Given the description of an element on the screen output the (x, y) to click on. 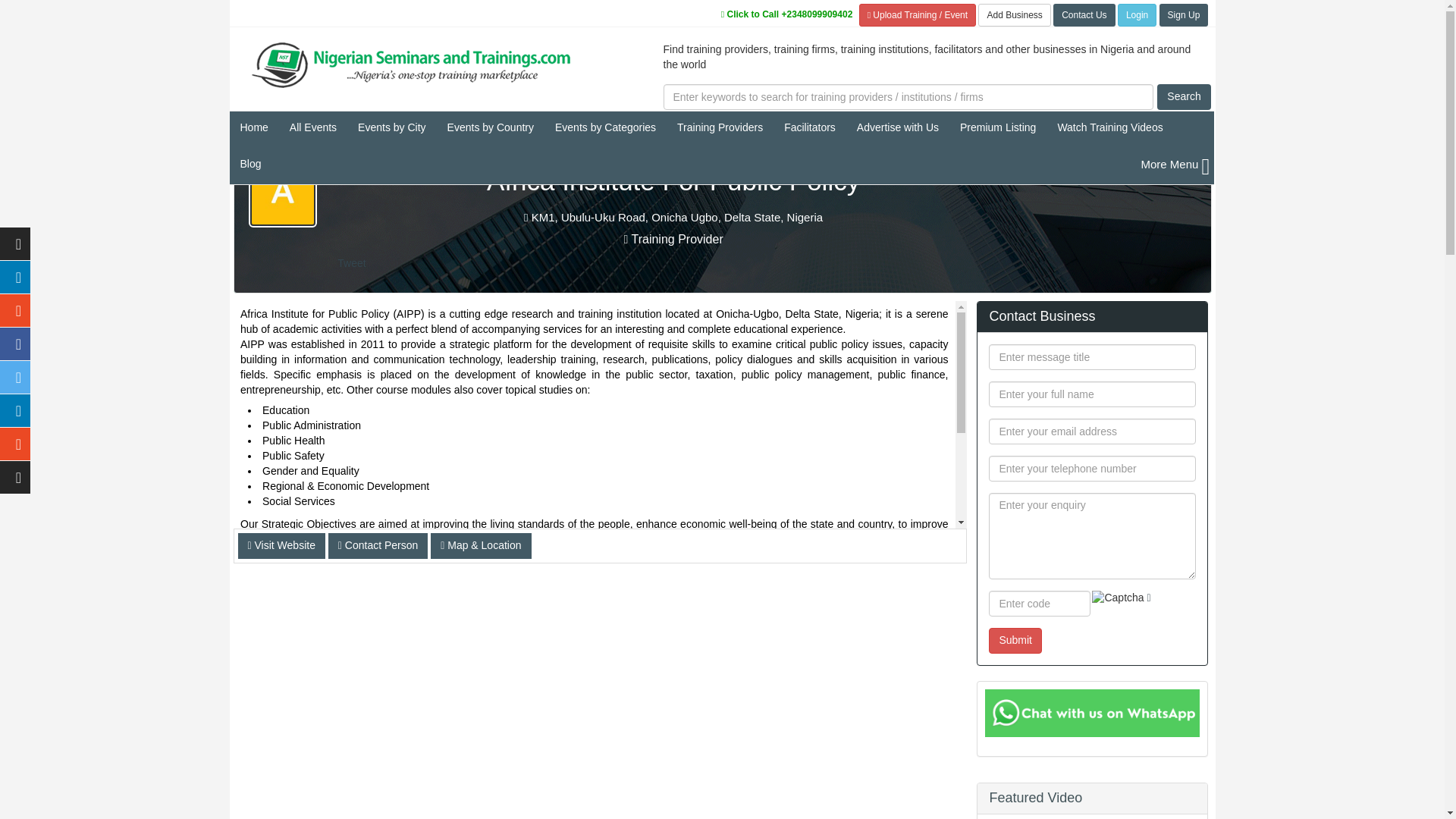
Home (253, 129)
Sign Up (1183, 15)
Add Business (1013, 15)
Advertise with Us (897, 129)
Search (1183, 96)
Add Business (917, 15)
Subscribe (1183, 15)
Login (1137, 15)
Login (1137, 15)
Contact Us (1083, 15)
